Given the description of an element on the screen output the (x, y) to click on. 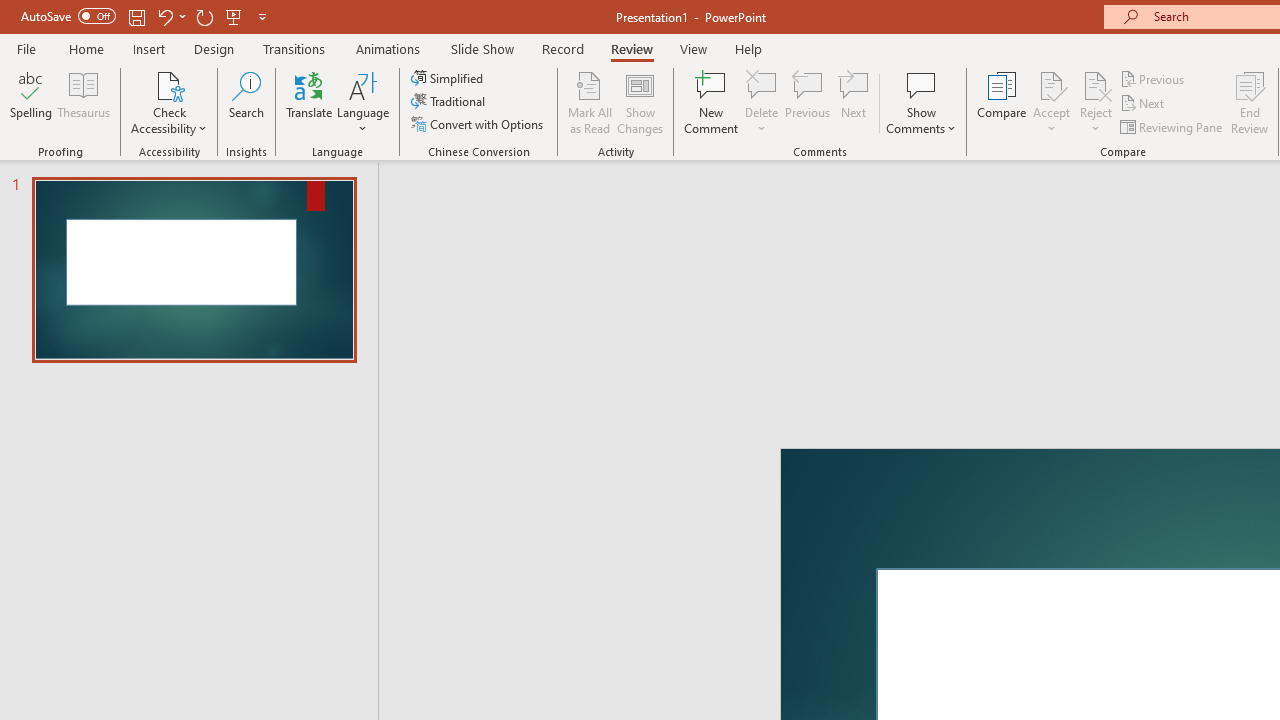
End Review (1249, 102)
Next (1144, 103)
